Given the description of an element on the screen output the (x, y) to click on. 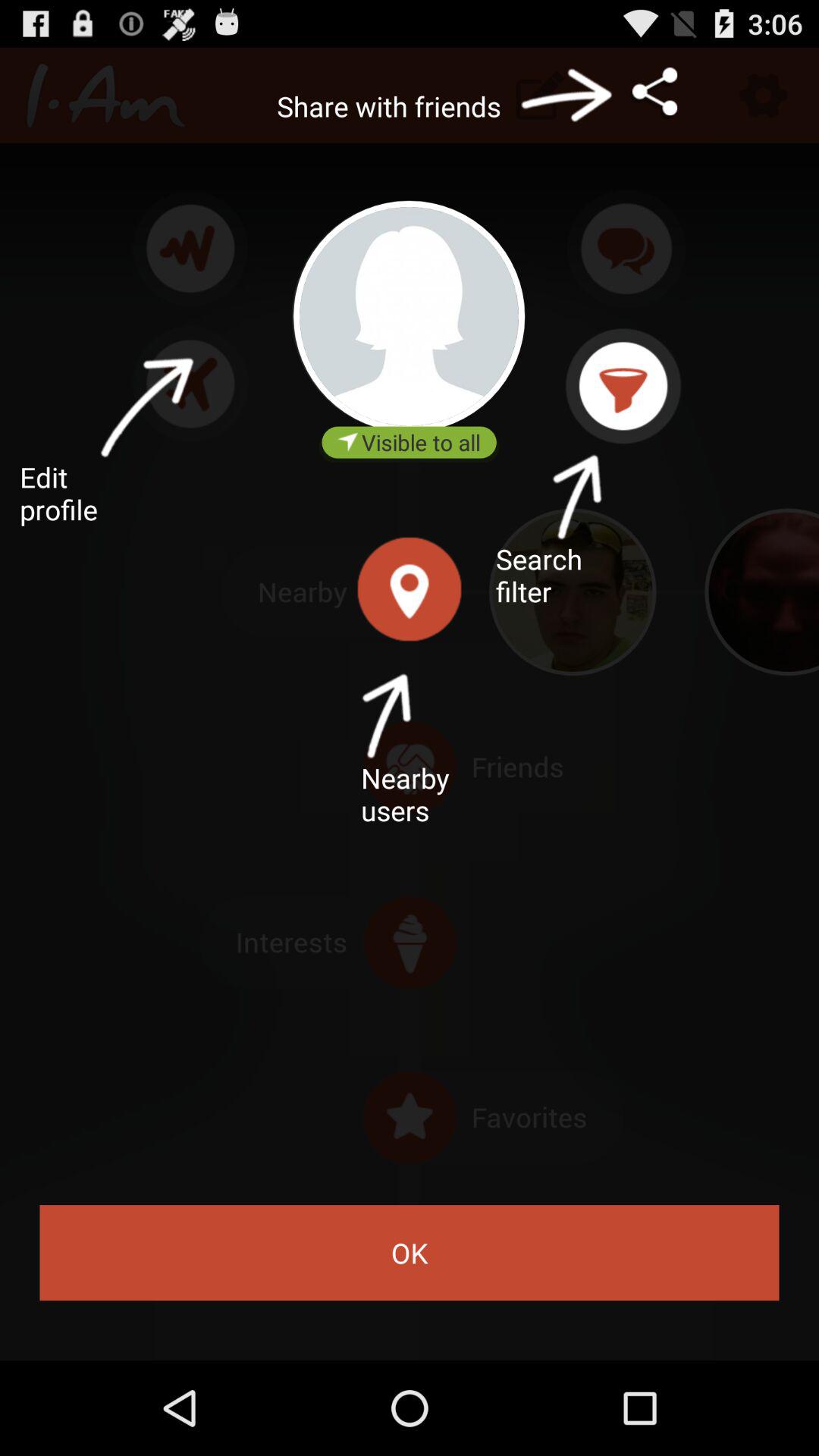
swipe to ok item (409, 1252)
